Given the description of an element on the screen output the (x, y) to click on. 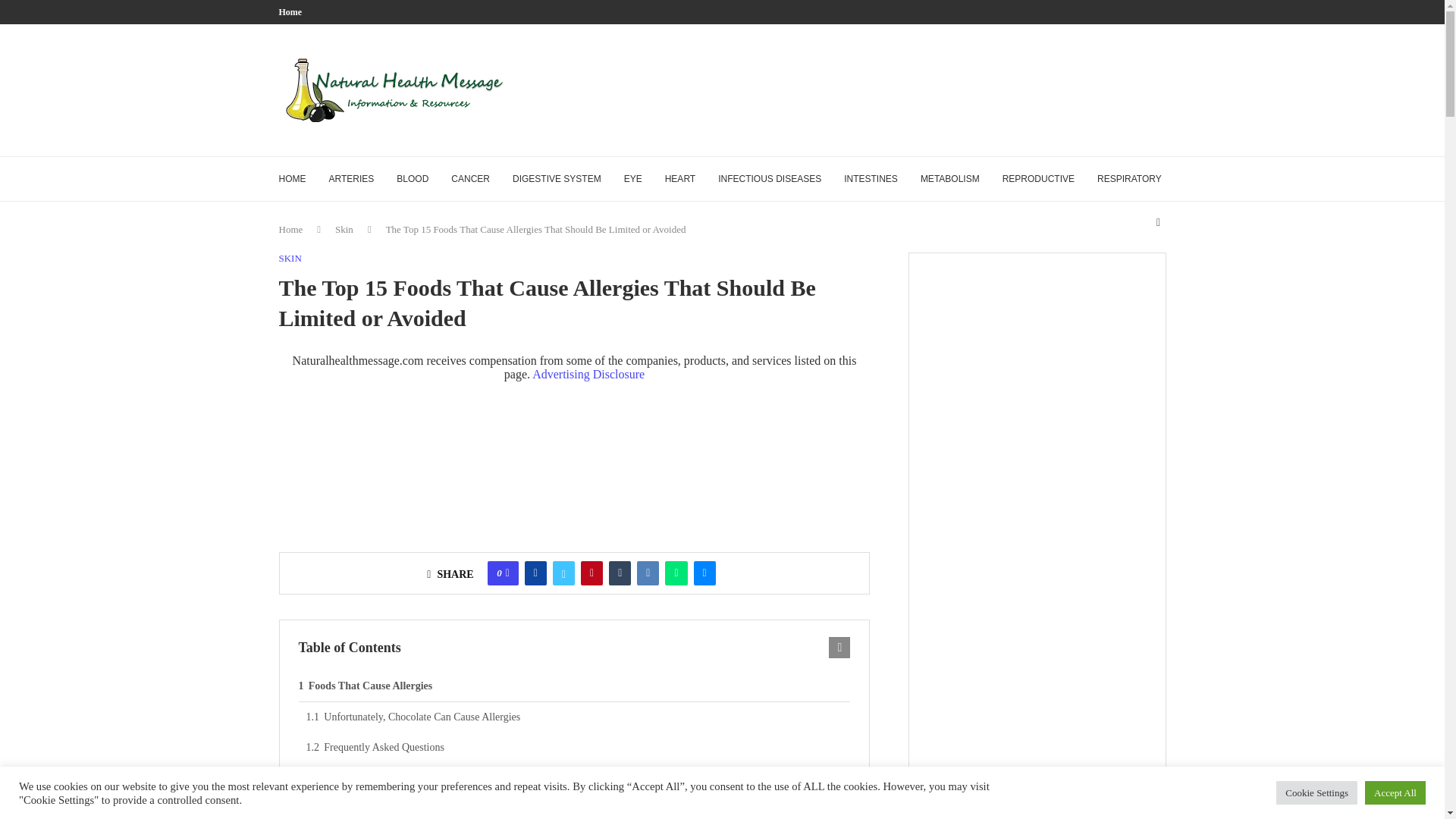
Frequently Asked Questions (577, 747)
Foods That Cause Allergies (574, 685)
INTESTINES (871, 178)
Can natural remedies cure food allergies? (577, 777)
Home (290, 229)
Advertisement (890, 88)
INFECTIOUS DISEASES (769, 178)
Can natural remedies cure food allergies? (577, 777)
Skin (343, 229)
Foods That Cause Allergies (574, 685)
Unfortunately, Chocolate Can Cause Allergies (577, 716)
RESPIRATORY (1129, 178)
Advertising Disclosure (588, 373)
ARTERIES (351, 178)
What are some expected natural remedies for food allergies? (577, 806)
